Given the description of an element on the screen output the (x, y) to click on. 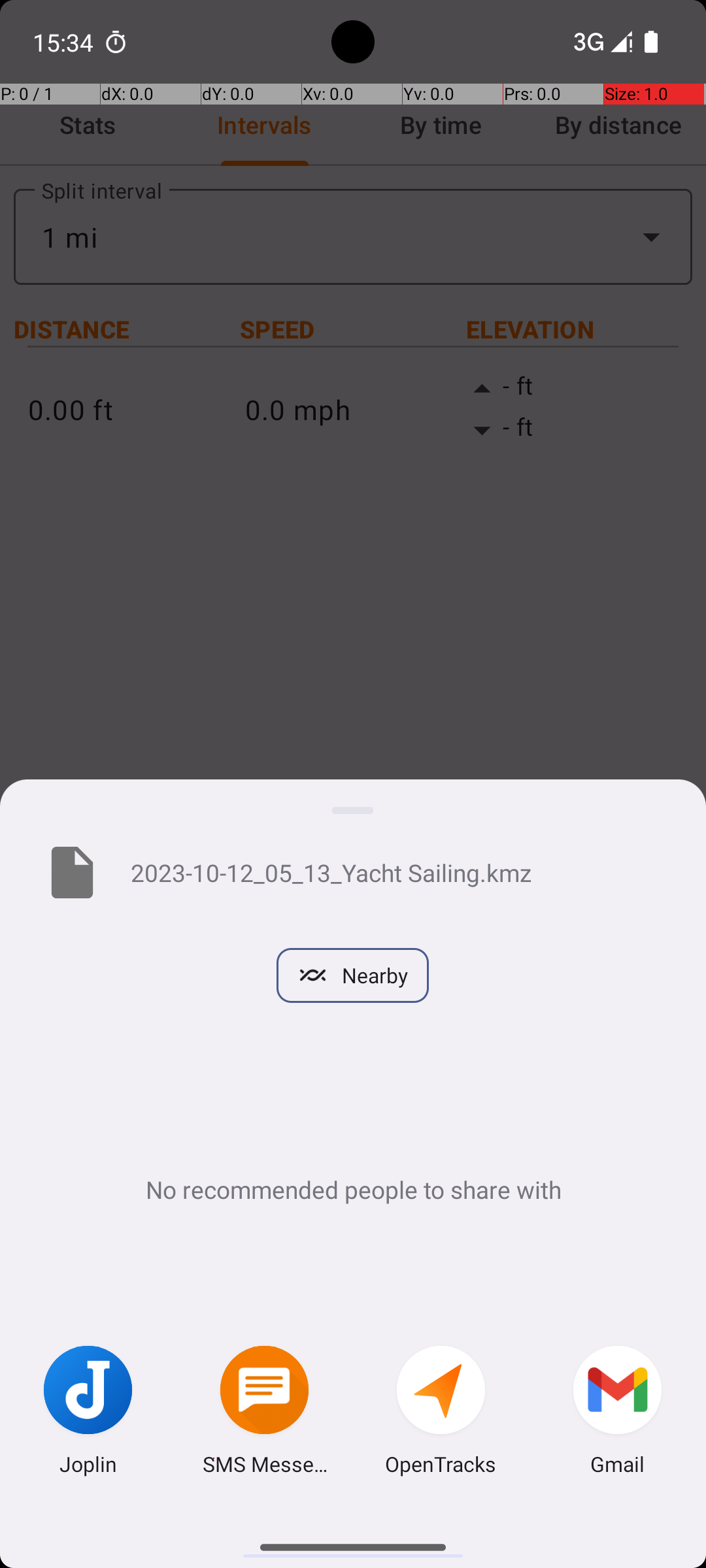
2023-10-12_05_13_Yacht Sailing.kmz Element type: android.widget.TextView (397, 872)
